Given the description of an element on the screen output the (x, y) to click on. 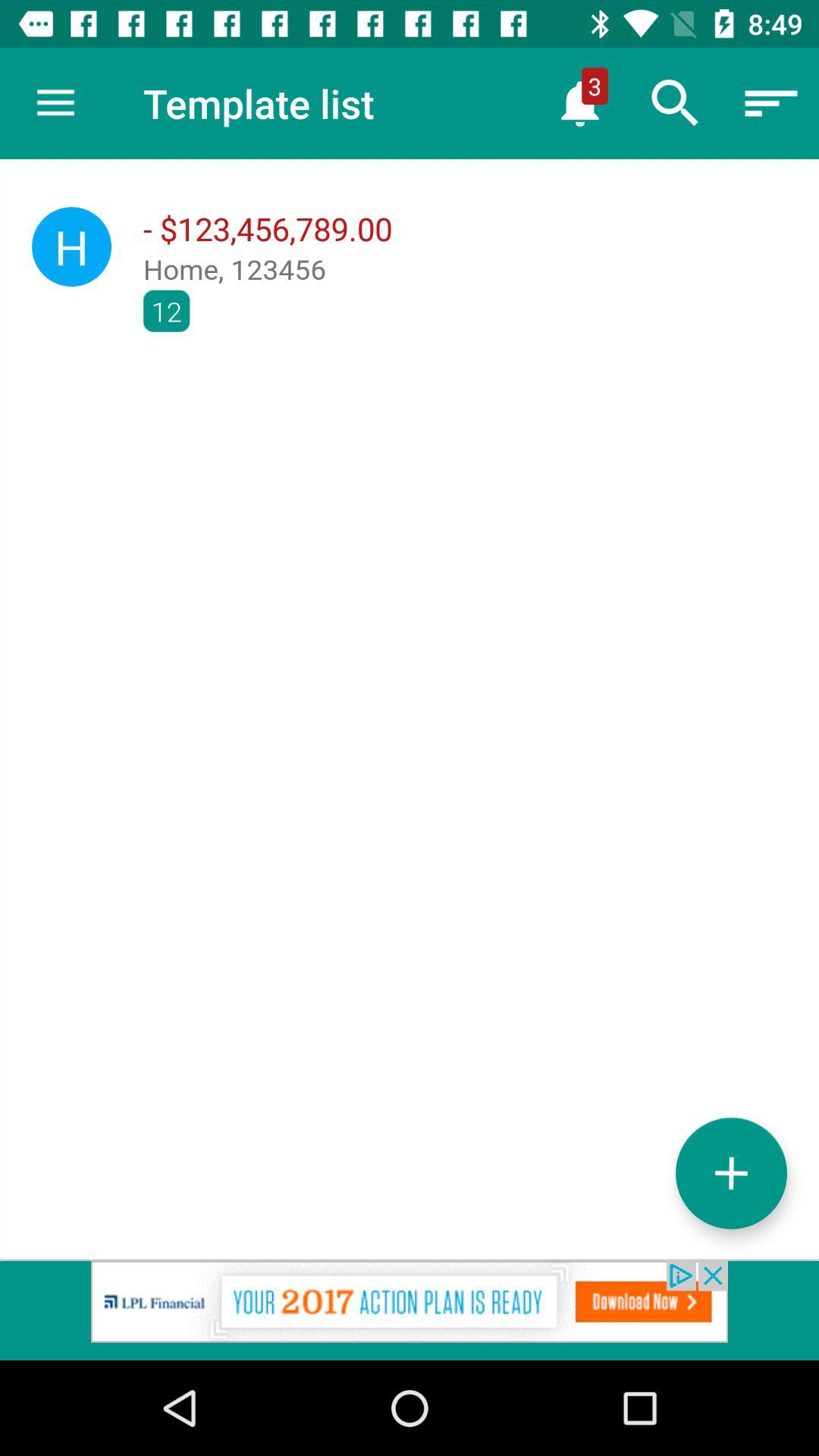
add contact (731, 1173)
